Given the description of an element on the screen output the (x, y) to click on. 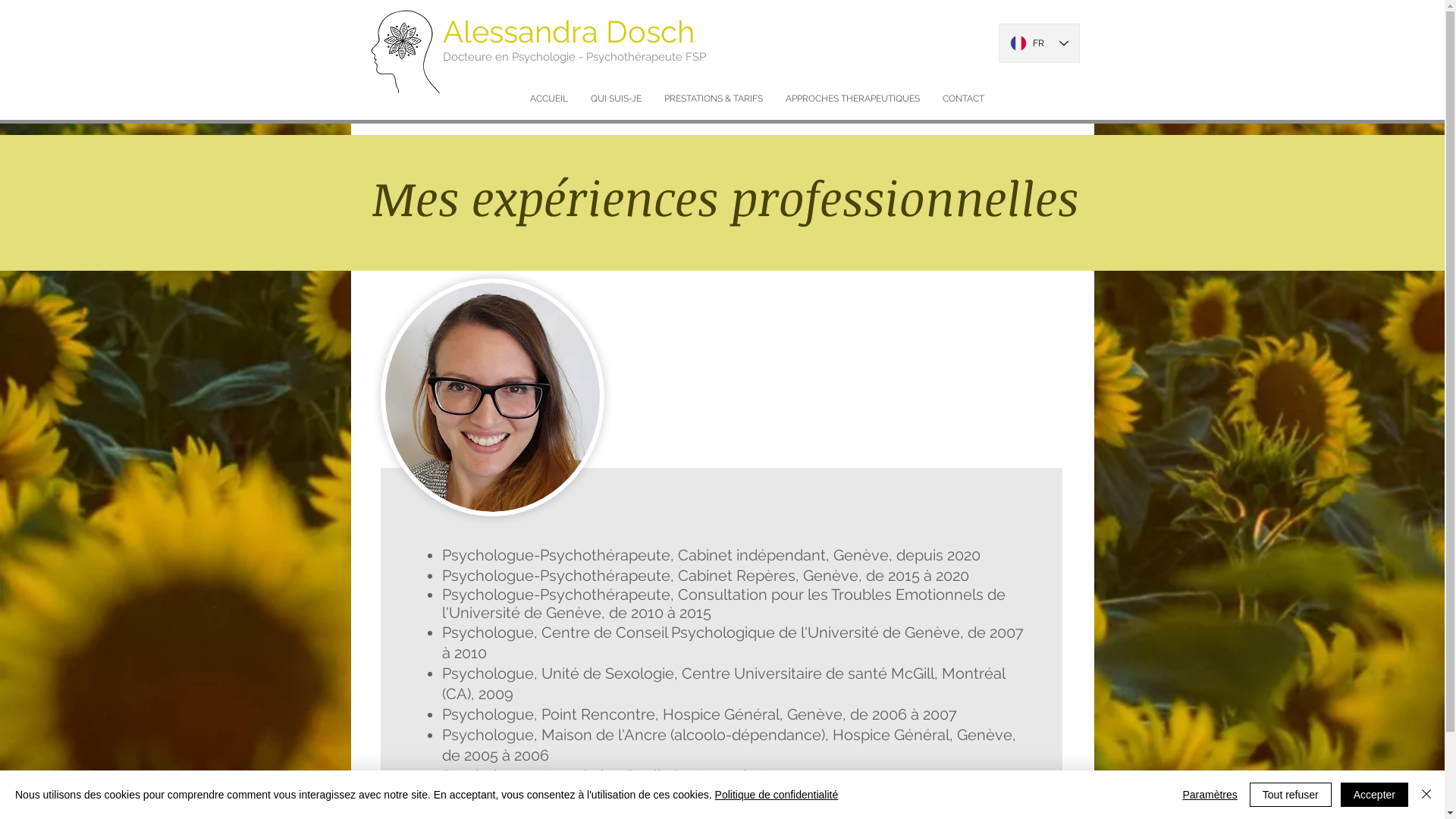
QUI SUIS-JE Element type: text (615, 98)
ACCUEIL Element type: text (548, 98)
Accepter Element type: text (1374, 794)
CONTACT Element type: text (963, 98)
APPROCHES THERAPEUTIQUES Element type: text (851, 98)
Tout refuser Element type: text (1290, 794)
PRESTATIONS & TARIFS Element type: text (712, 98)
